Given the description of an element on the screen output the (x, y) to click on. 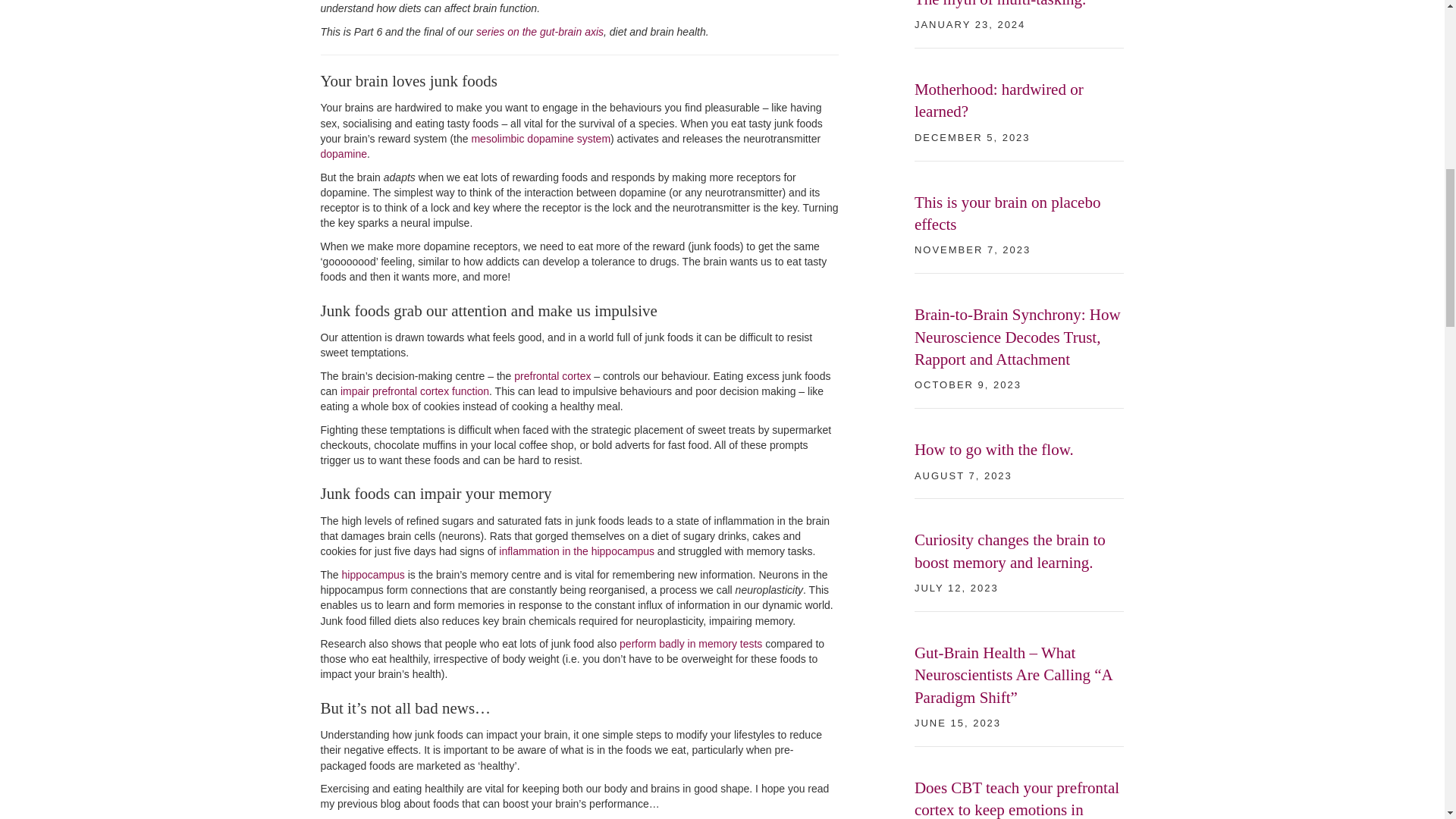
hippocampus (373, 574)
dopamine (343, 153)
This is your brain on placebo effects (1007, 213)
series on the gut-brain axis (540, 31)
Motherhood: hardwired or learned? (998, 100)
inflammation in the hippocampus (576, 551)
prefrontal cortex (552, 376)
impair prefrontal cortex function (414, 390)
perform badly in memory tests (690, 644)
How to go with the flow. (994, 449)
mesolimbic dopamine system (540, 138)
The myth of multi-tasking. (1000, 4)
